Given the description of an element on the screen output the (x, y) to click on. 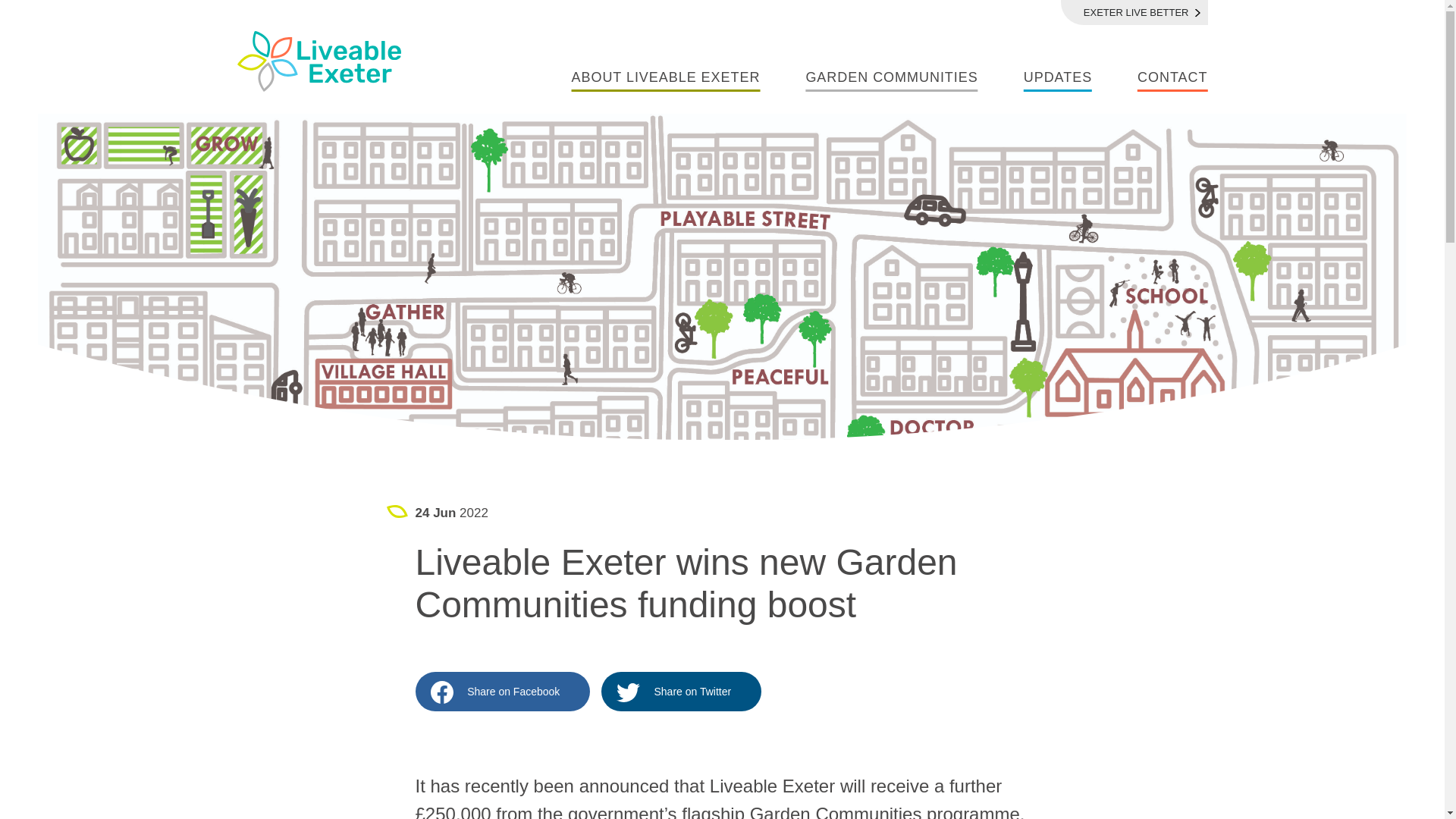
Share on Twitter (681, 691)
ABOUT LIVEABLE EXETER (665, 79)
Liveable Exeter (319, 61)
GARDEN COMMUNITIES (890, 79)
UPDATES (1057, 79)
Share on Facebook (502, 691)
CONTACT (1172, 79)
EXETER LIVE BETTER (1134, 12)
